Given the description of an element on the screen output the (x, y) to click on. 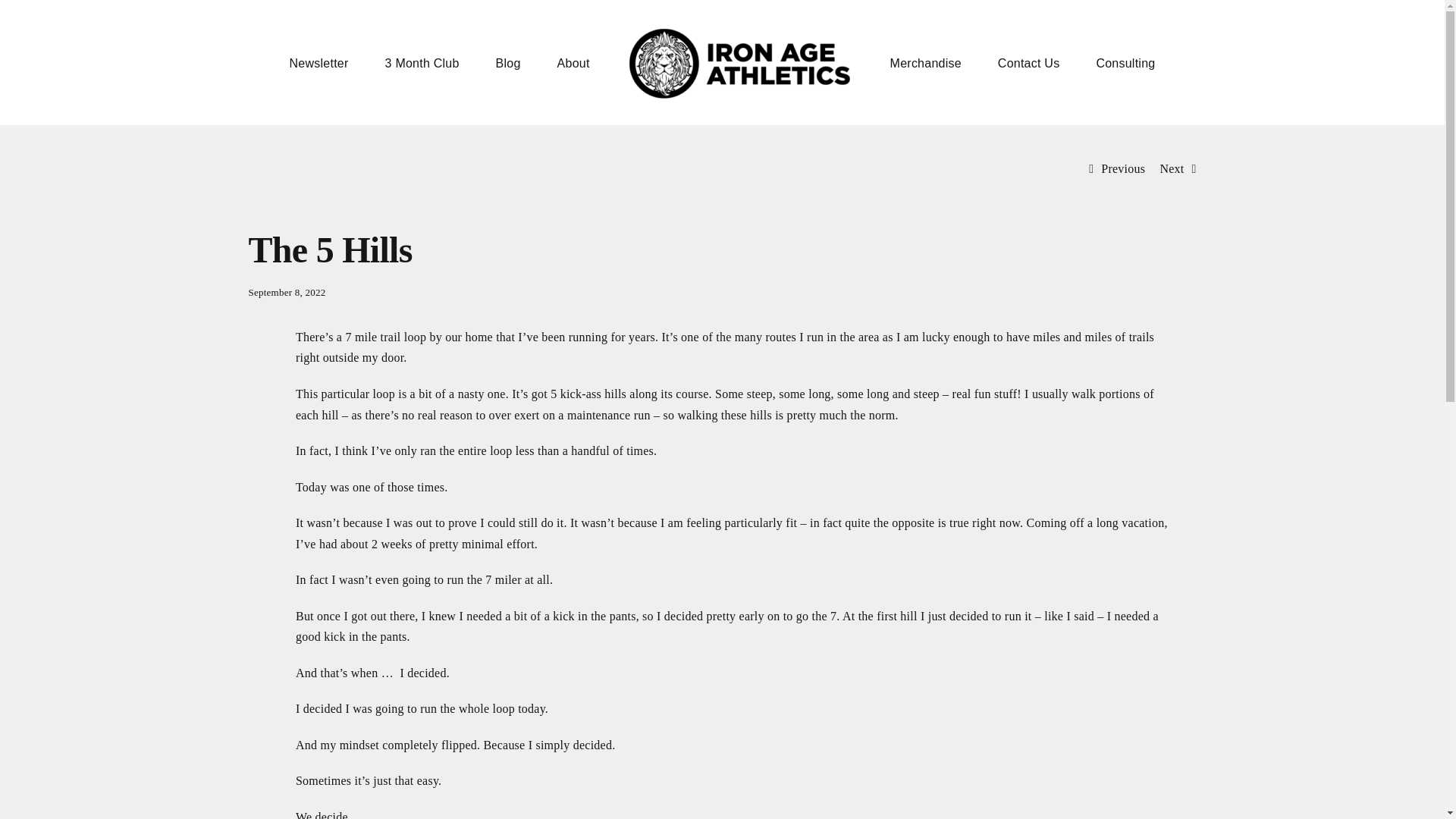
3 Month Club (422, 62)
Merchandise (924, 62)
Previous (1122, 168)
Newsletter (319, 62)
Contact Us (1028, 62)
Consulting (1125, 62)
Next (1170, 168)
